Given the description of an element on the screen output the (x, y) to click on. 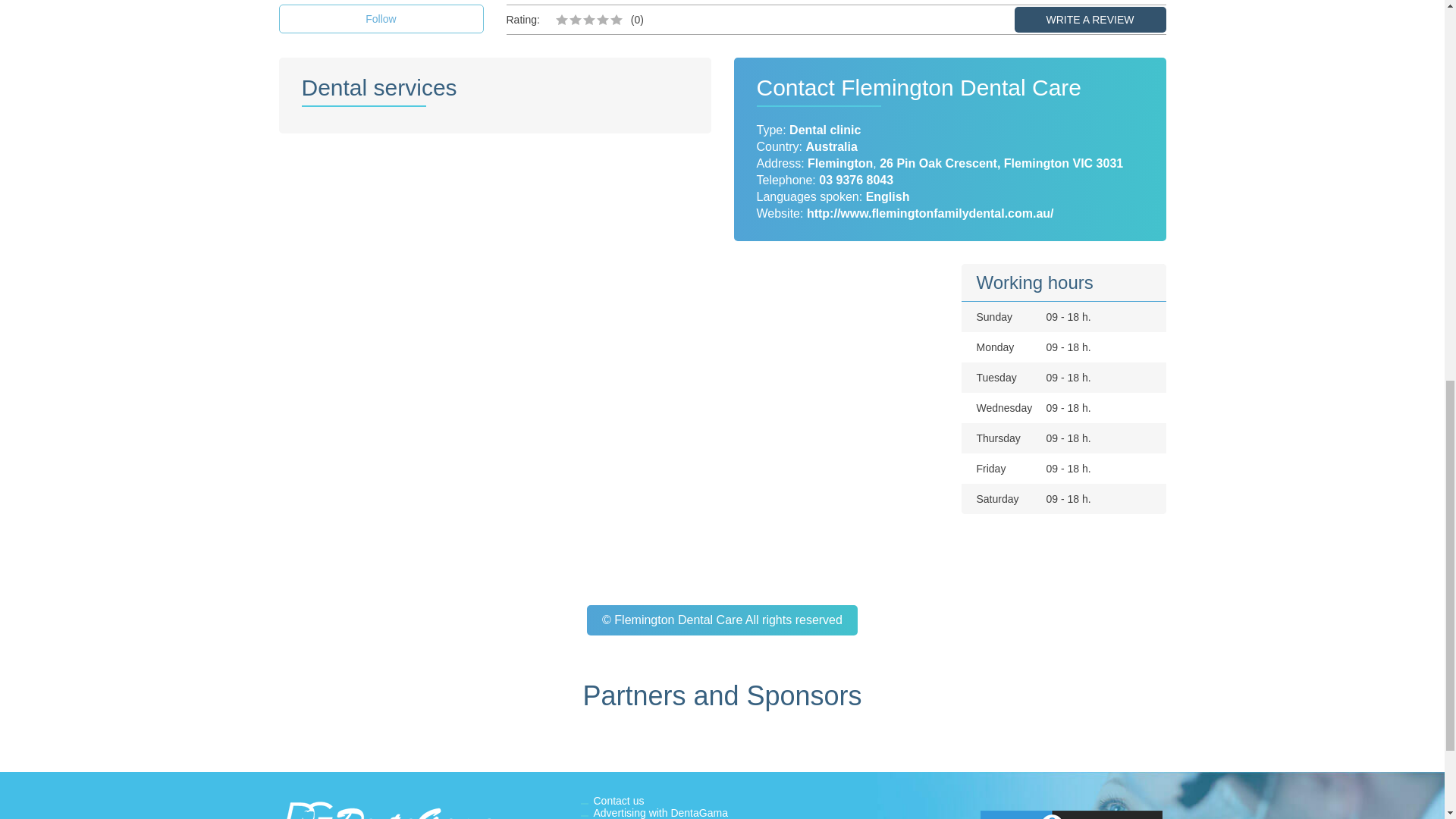
WRITE A REVIEW (1090, 19)
DentaGama (396, 806)
Follow (381, 18)
Advertising with DentaGama (659, 812)
Dental clinic (824, 129)
Contact us (617, 800)
